Given the description of an element on the screen output the (x, y) to click on. 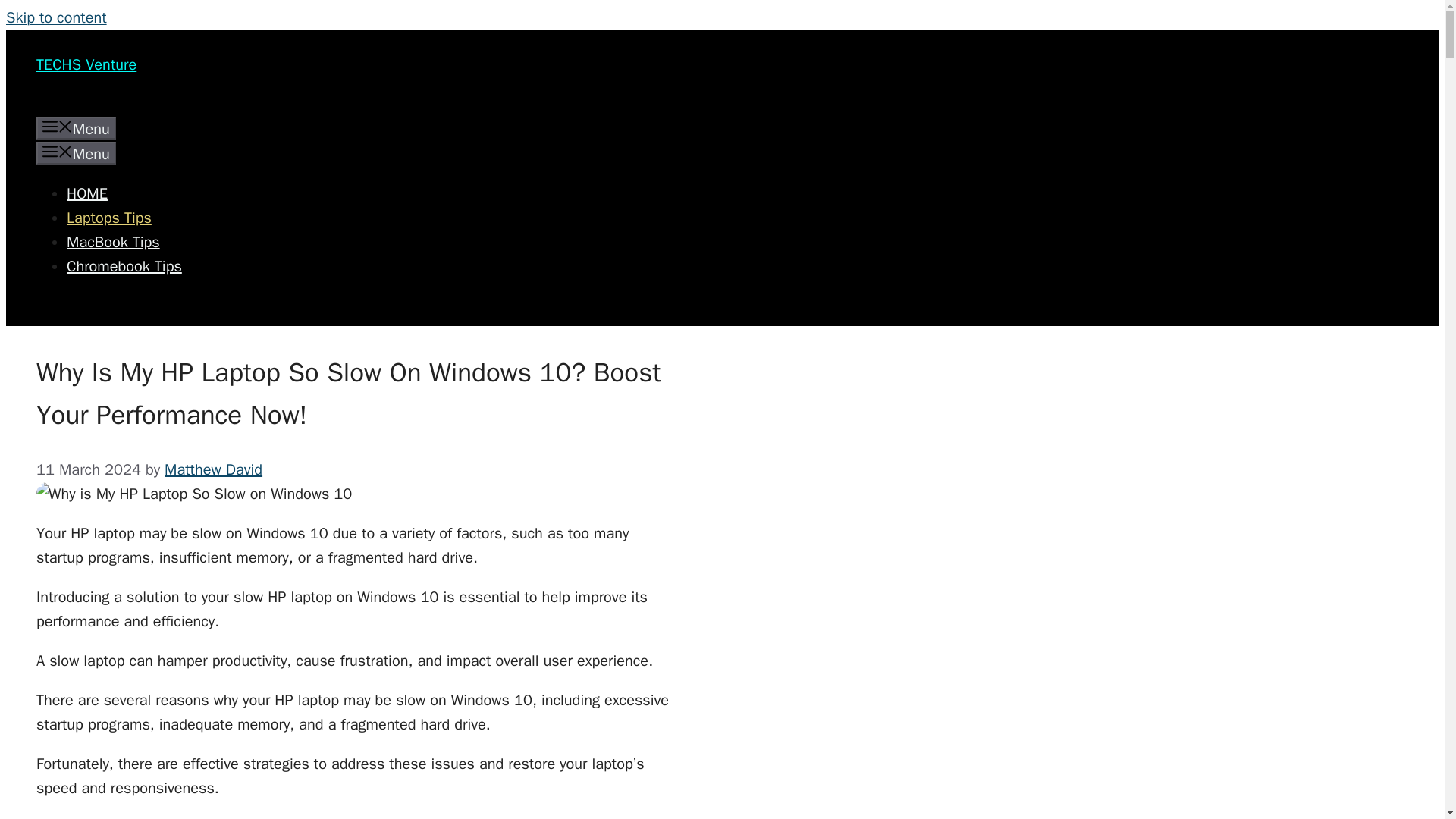
Menu (76, 128)
Skip to content (55, 17)
TECHS Venture (86, 64)
Matthew David (213, 469)
MacBook Tips (113, 241)
Skip to content (55, 17)
Menu (76, 152)
View all posts by Matthew David (213, 469)
Laptops Tips (108, 217)
HOME (86, 193)
